Given the description of an element on the screen output the (x, y) to click on. 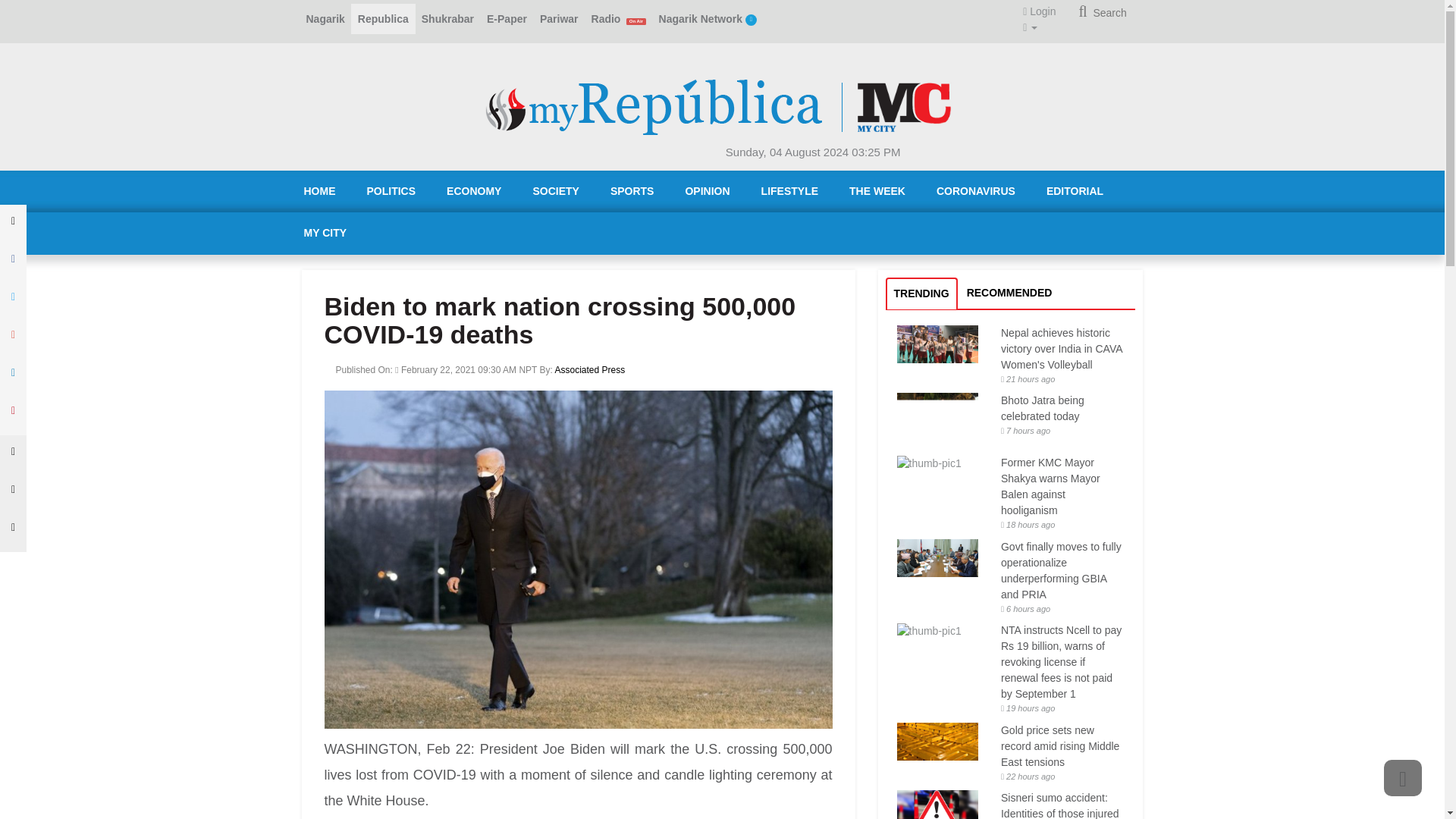
HOME (319, 191)
Shukrabar (447, 19)
Pariwar (558, 19)
SOCIETY (555, 191)
Login (1039, 10)
Query Your News (1101, 12)
THE WEEK (876, 191)
E-Paper (507, 19)
POLITICS (390, 191)
SPORTS (632, 191)
  Search (1101, 12)
OPINION (707, 191)
Republica (382, 19)
LIFESTYLE (789, 191)
ECONOMY (473, 191)
